Given the description of an element on the screen output the (x, y) to click on. 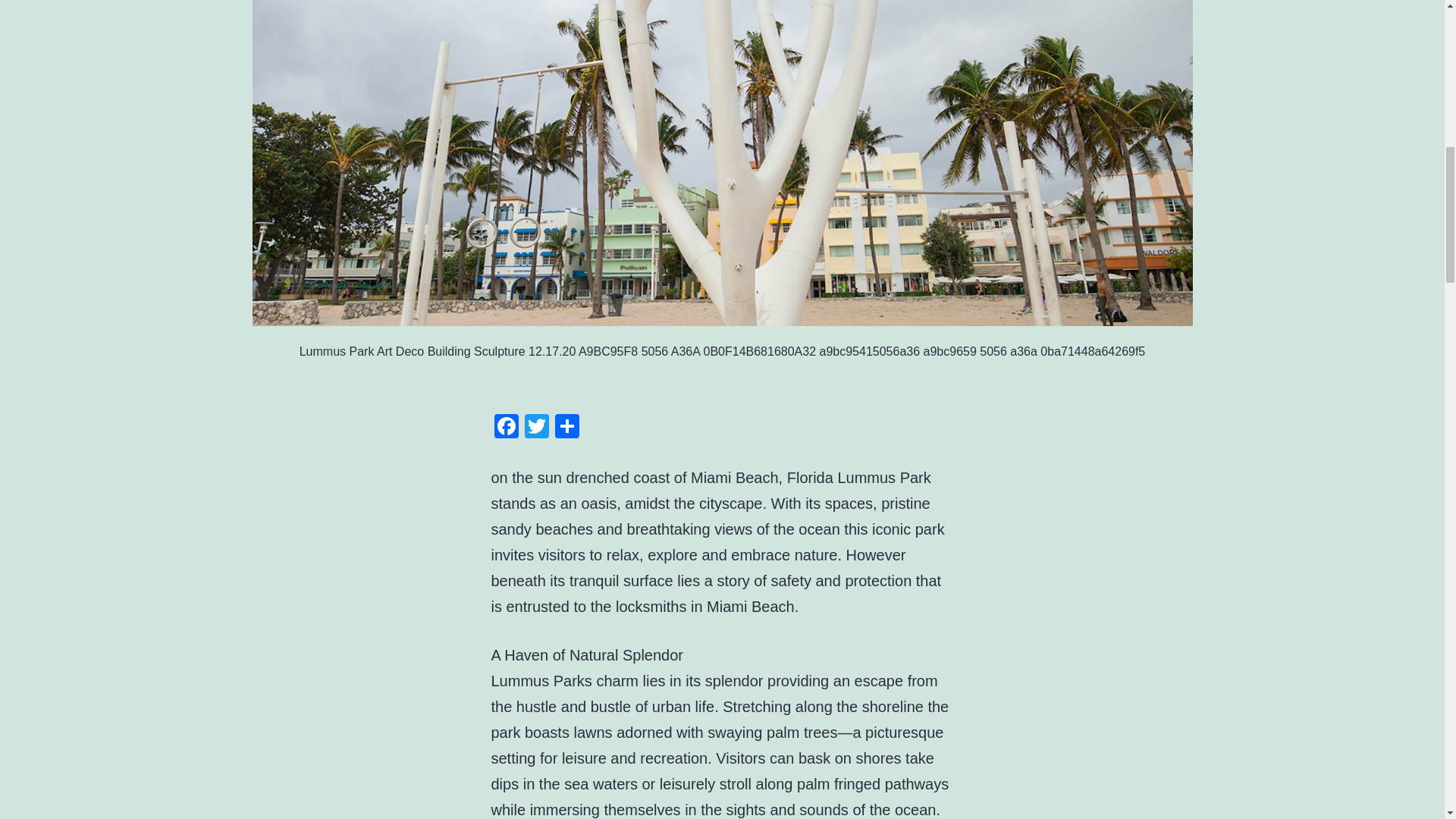
Facebook (506, 428)
Share (566, 428)
Twitter (536, 428)
Facebook (506, 428)
Twitter (536, 428)
